Given the description of an element on the screen output the (x, y) to click on. 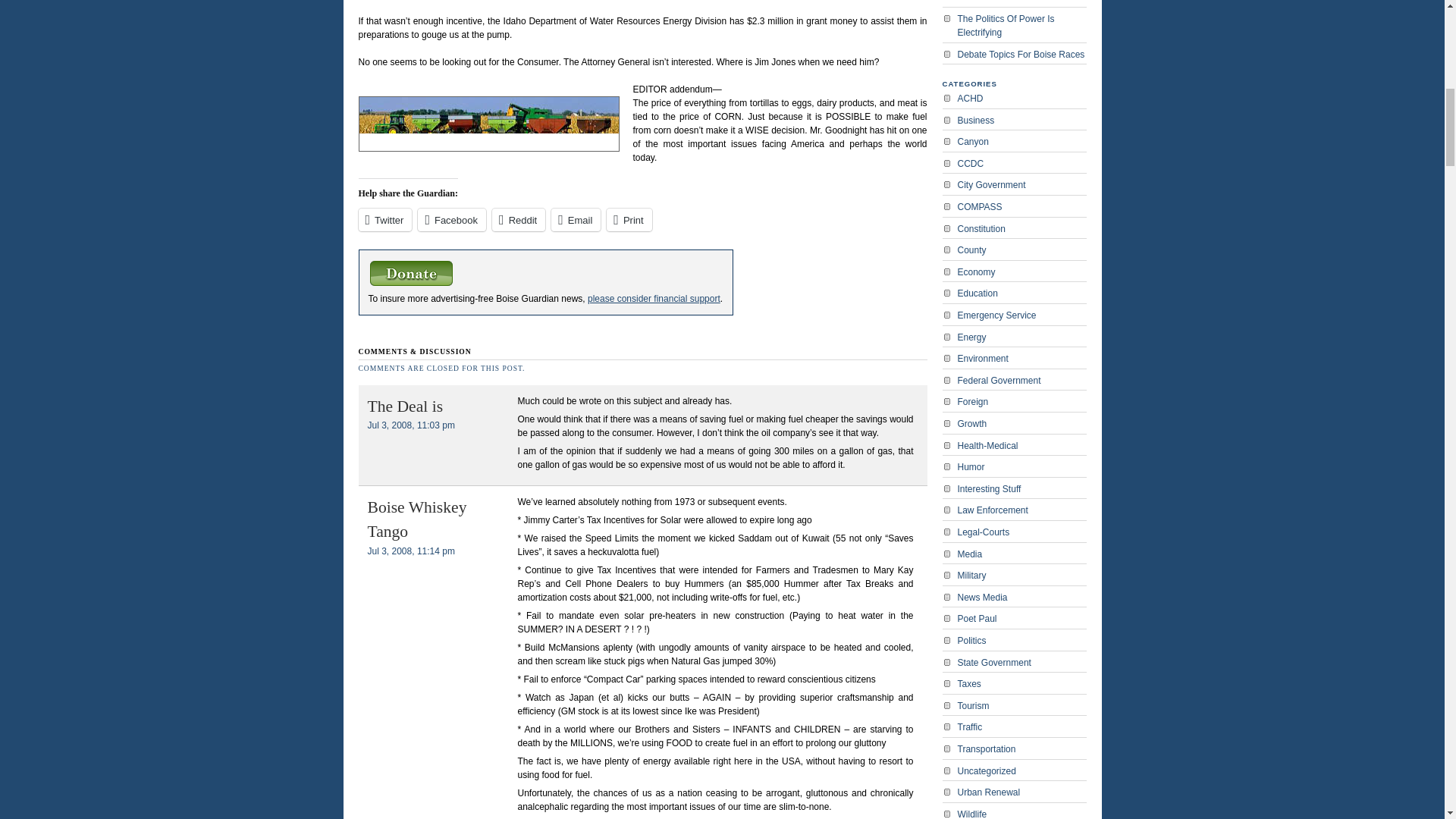
Facebook (451, 219)
please consider financial support (654, 298)
Twitter (385, 219)
Print (628, 219)
Click to share on Twitter (385, 219)
Click to email a link to a friend (575, 219)
Click to share on Facebook (451, 219)
Jul 3, 2008, 11:03 pm (410, 425)
Reddit (518, 219)
Click to share on Reddit (518, 219)
Click to print (628, 219)
Email (575, 219)
Jul 3, 2008, 11:14 pm (410, 551)
